Given the description of an element on the screen output the (x, y) to click on. 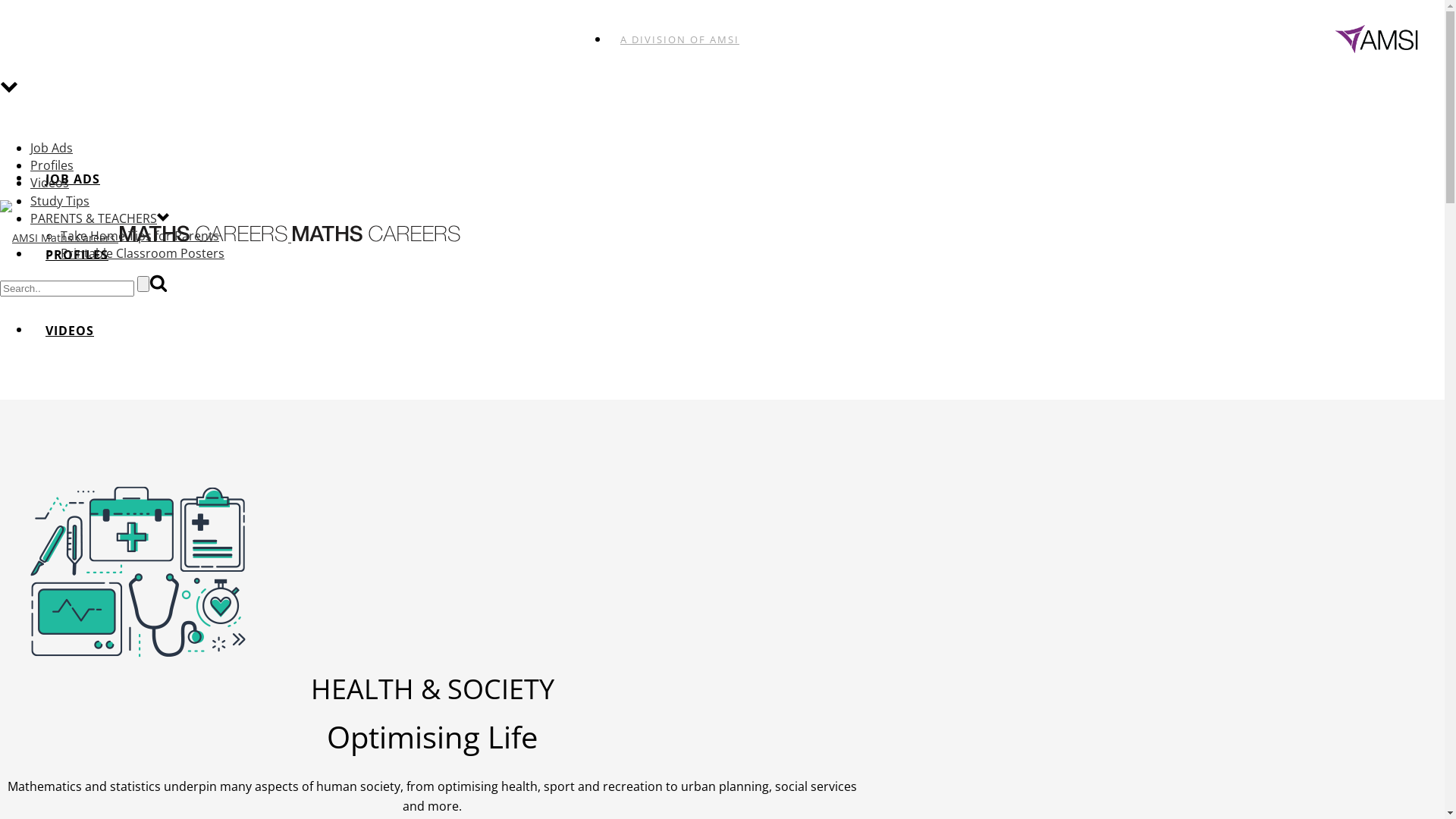
AMSI Maths Careers Element type: hover (376, 233)
TAKE HOME TIPS FOR PARENTS Element type: text (149, 557)
PARENTS & TEACHERS Element type: text (117, 481)
A DIVISION OF AMSI Element type: text (679, 39)
Printable Classroom Posters Element type: text (142, 252)
Study Tips Element type: text (59, 200)
PARENTS & TEACHERS Element type: text (93, 218)
VIDEOS Element type: text (69, 330)
Profiles Element type: text (51, 164)
STUDY TIPS Element type: text (82, 406)
AMSI Maths Careers Element type: hover (203, 233)
AMSI Maths Careers Element type: hover (57, 238)
PRINTABLE CLASSROOM POSTERS Element type: text (157, 634)
AMSI Careers Element type: hover (230, 237)
PROFILES Element type: text (76, 254)
Take Home Tips for Parents Element type: text (139, 235)
JOB ADS Element type: text (72, 178)
Videos Element type: text (49, 182)
Job Ads Element type: text (51, 147)
